Given the description of an element on the screen output the (x, y) to click on. 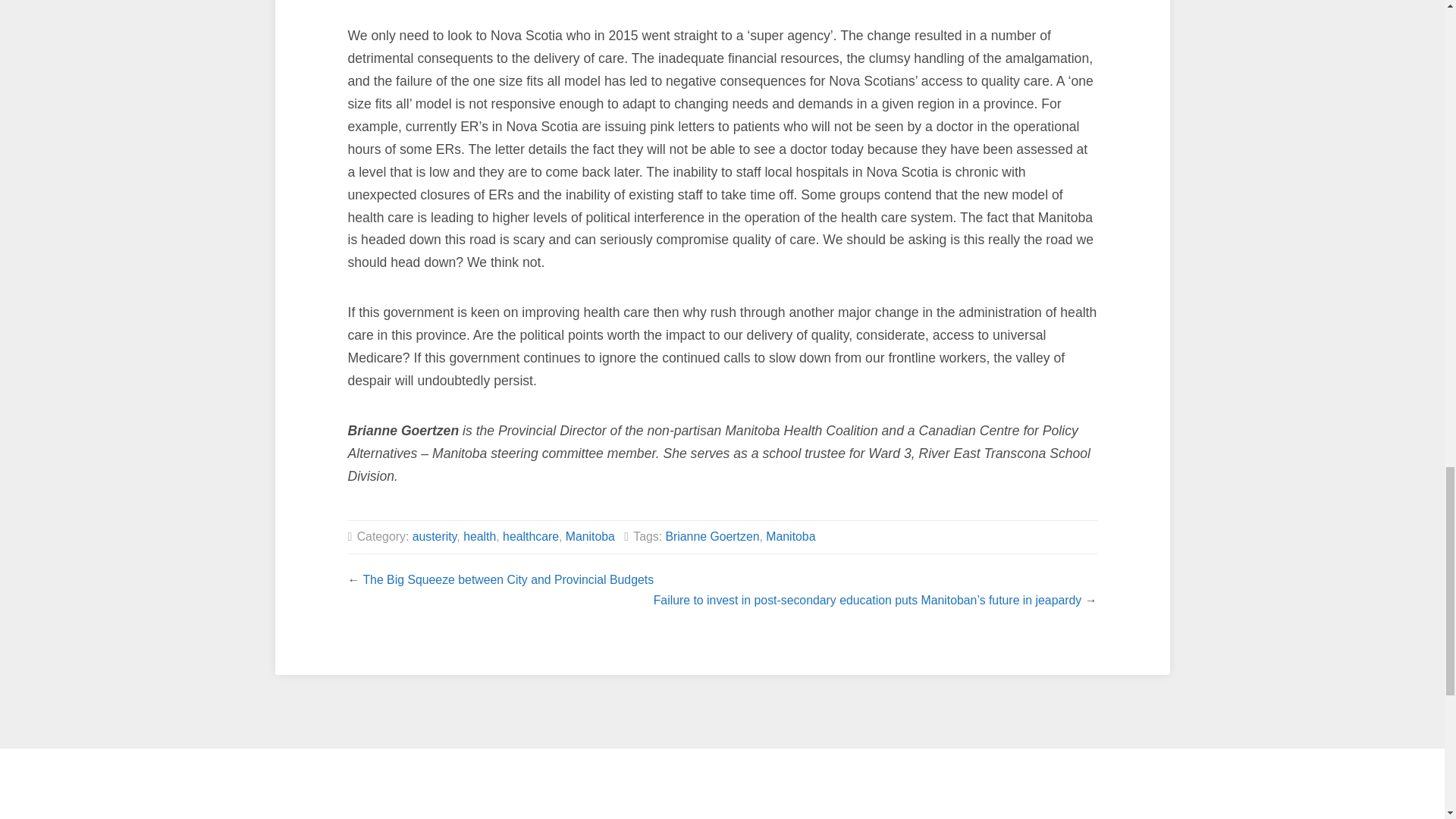
healthcare (530, 535)
Manitoba (790, 535)
Manitoba (590, 535)
health (479, 535)
The Big Squeeze between City and Provincial Budgets (507, 579)
austerity (434, 535)
Brianne Goertzen (711, 535)
